Given the description of an element on the screen output the (x, y) to click on. 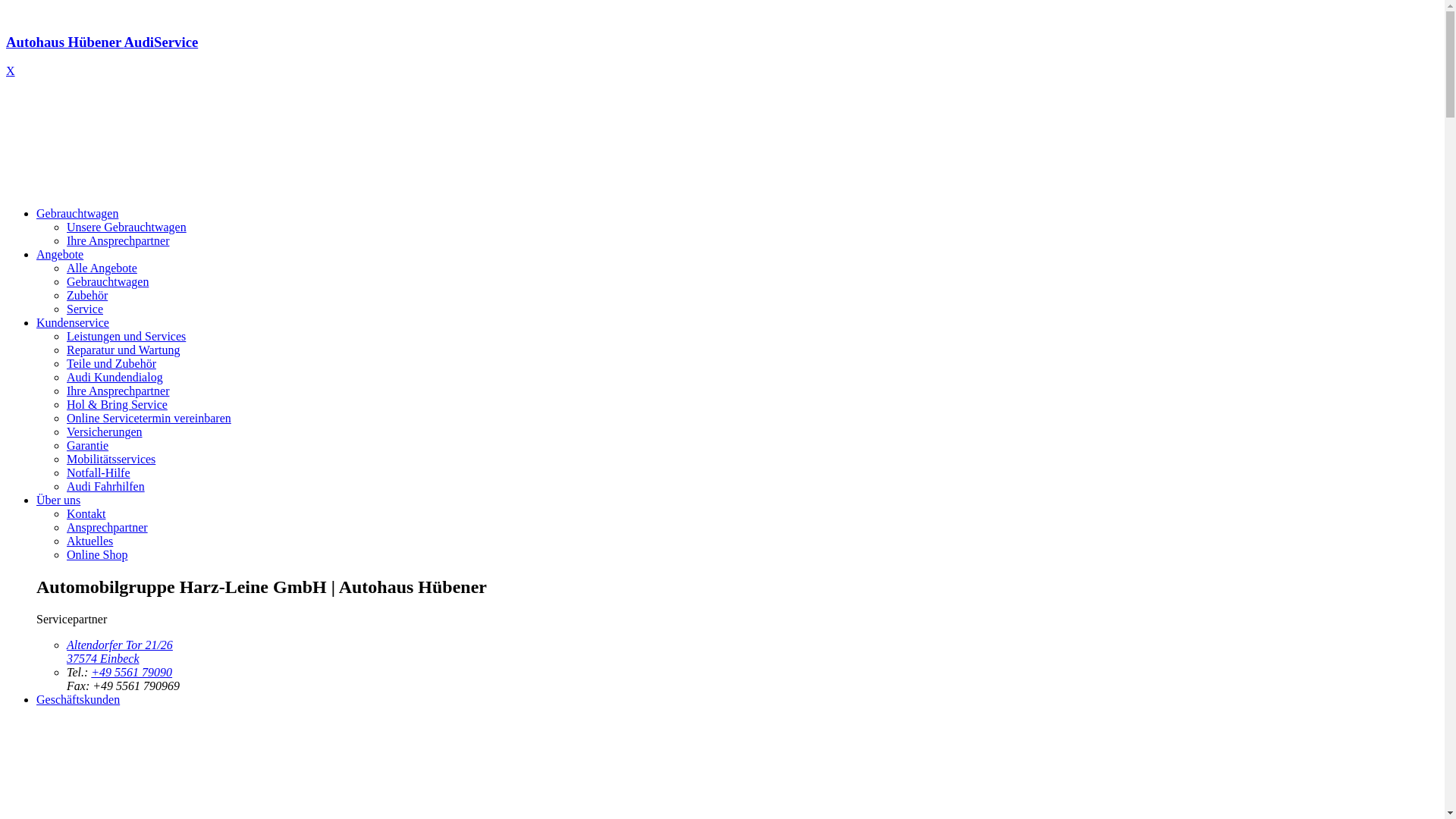
X Element type: text (10, 70)
Leistungen und Services Element type: text (125, 335)
Aktuelles Element type: text (89, 540)
Versicherungen Element type: text (104, 431)
Notfall-Hilfe Element type: text (98, 472)
Altendorfer Tor 21/26
37574 Einbeck Element type: text (119, 651)
Online Servicetermin vereinbaren Element type: text (148, 417)
Online Shop Element type: text (96, 554)
+49 5561 79090 Element type: text (131, 671)
Hol & Bring Service Element type: text (116, 404)
Garantie Element type: text (87, 445)
Audi Kundendialog Element type: text (114, 376)
Gebrauchtwagen Element type: text (107, 281)
Audi Fahrhilfen Element type: text (105, 486)
Service Element type: text (84, 308)
Alle Angebote Element type: text (101, 267)
Gebrauchtwagen Element type: text (77, 213)
Angebote Element type: text (59, 253)
Reparatur und Wartung Element type: text (122, 349)
Ihre Ansprechpartner Element type: text (117, 240)
Kundenservice Element type: text (72, 322)
Unsere Gebrauchtwagen Element type: text (126, 226)
Ansprechpartner Element type: text (106, 526)
Kontakt Element type: text (86, 513)
Ihre Ansprechpartner Element type: text (117, 390)
